Given the description of an element on the screen output the (x, y) to click on. 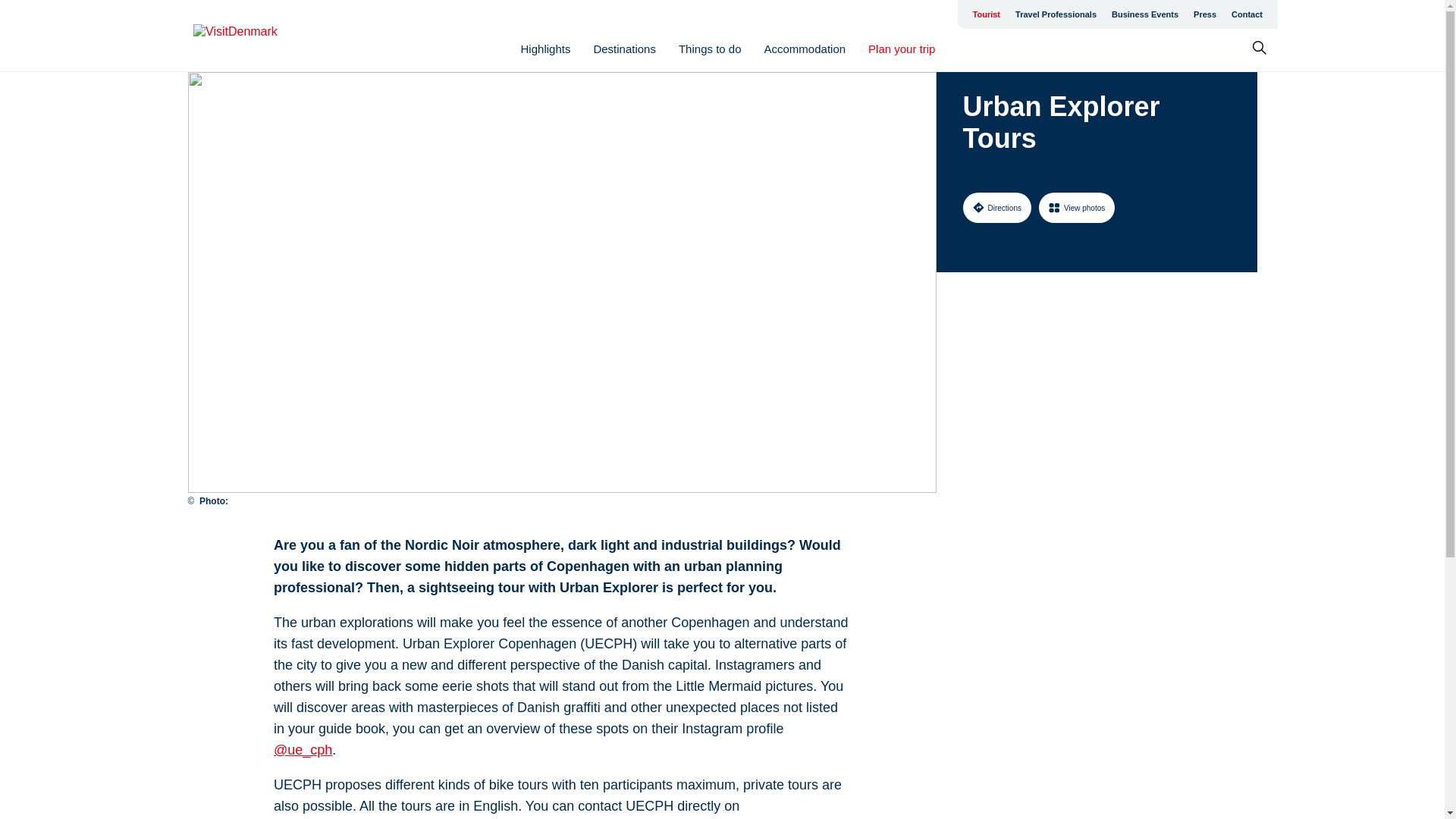
Things to do (709, 48)
Destinations (624, 48)
Go to homepage (253, 35)
Travel Professionals (1055, 14)
Directions (996, 207)
Press (1205, 14)
Tourist (986, 14)
View photos (1077, 207)
Plan your trip (900, 48)
Highlights (545, 48)
Contact (1246, 14)
Business Events (1144, 14)
Accommodation (804, 48)
